Given the description of an element on the screen output the (x, y) to click on. 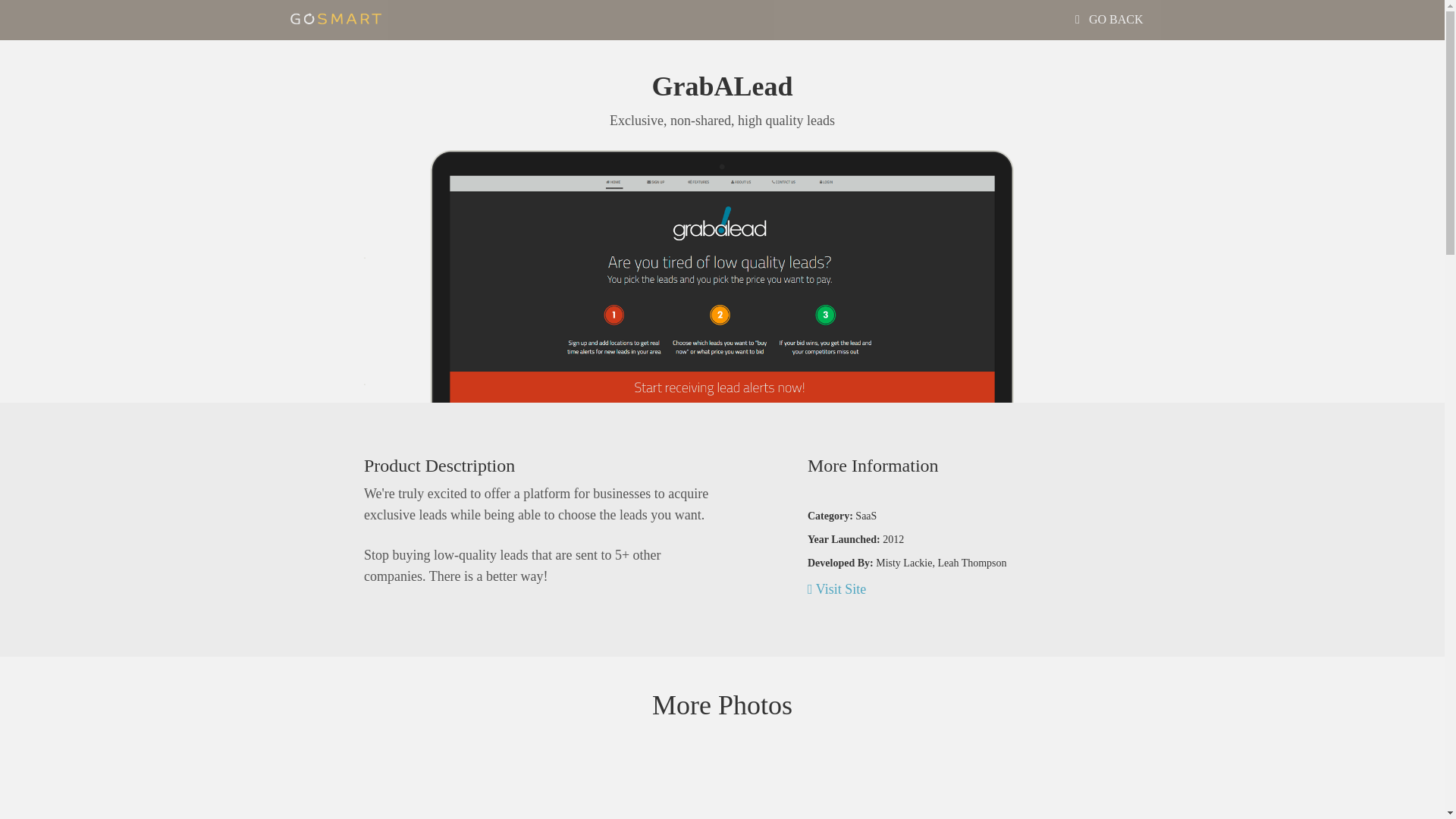
Visit Site (837, 589)
   GO BACK (1109, 20)
